Given the description of an element on the screen output the (x, y) to click on. 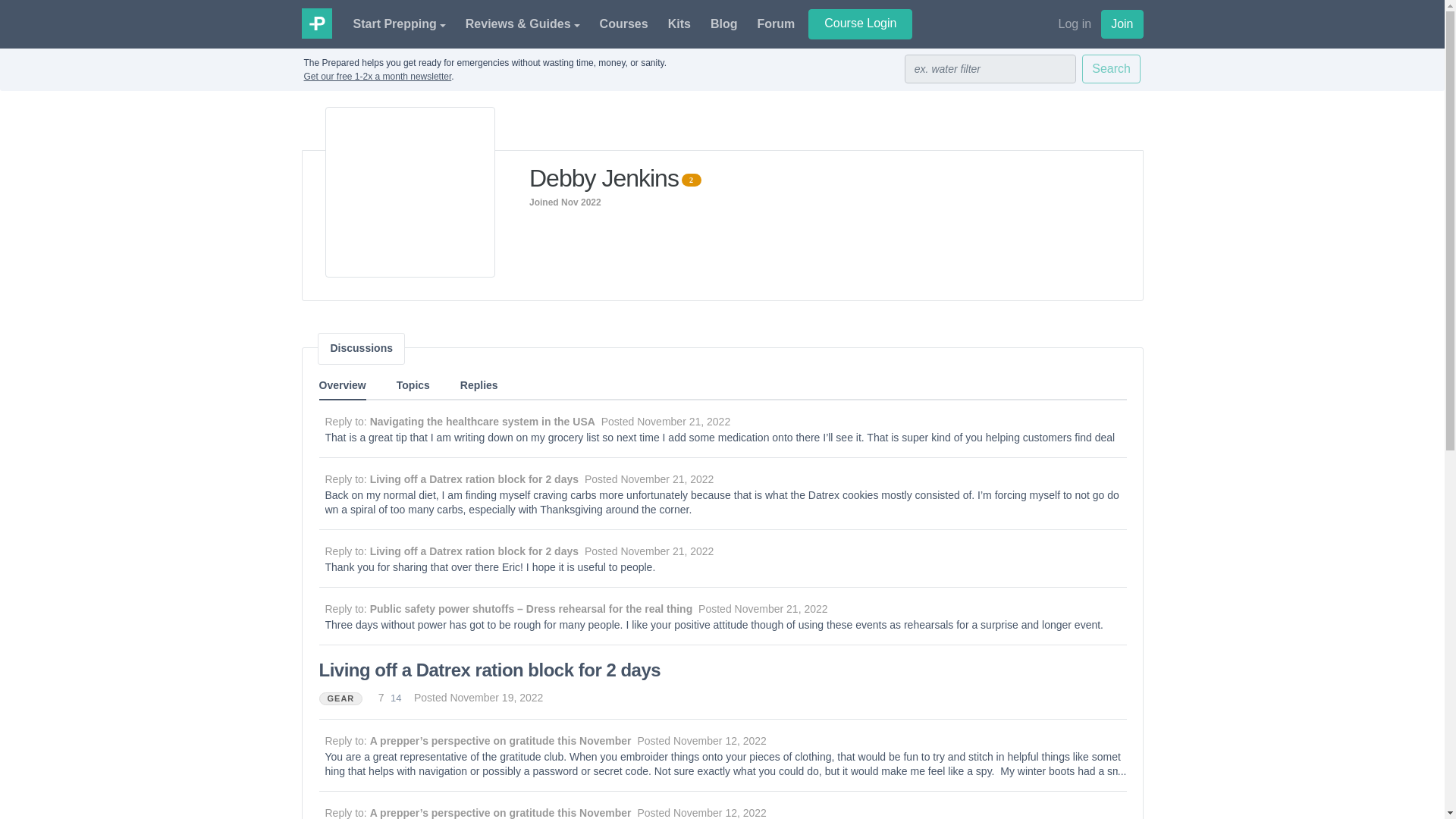
Overview (341, 386)
The Prepared (316, 22)
Topics (412, 385)
Living off a Datrex ration block for 2 days (473, 551)
Living off a Datrex ration block for 2 days (473, 479)
Start Prepping (399, 24)
Join (1121, 23)
Navigating the healthcare system in the USA (482, 421)
